Given the description of an element on the screen output the (x, y) to click on. 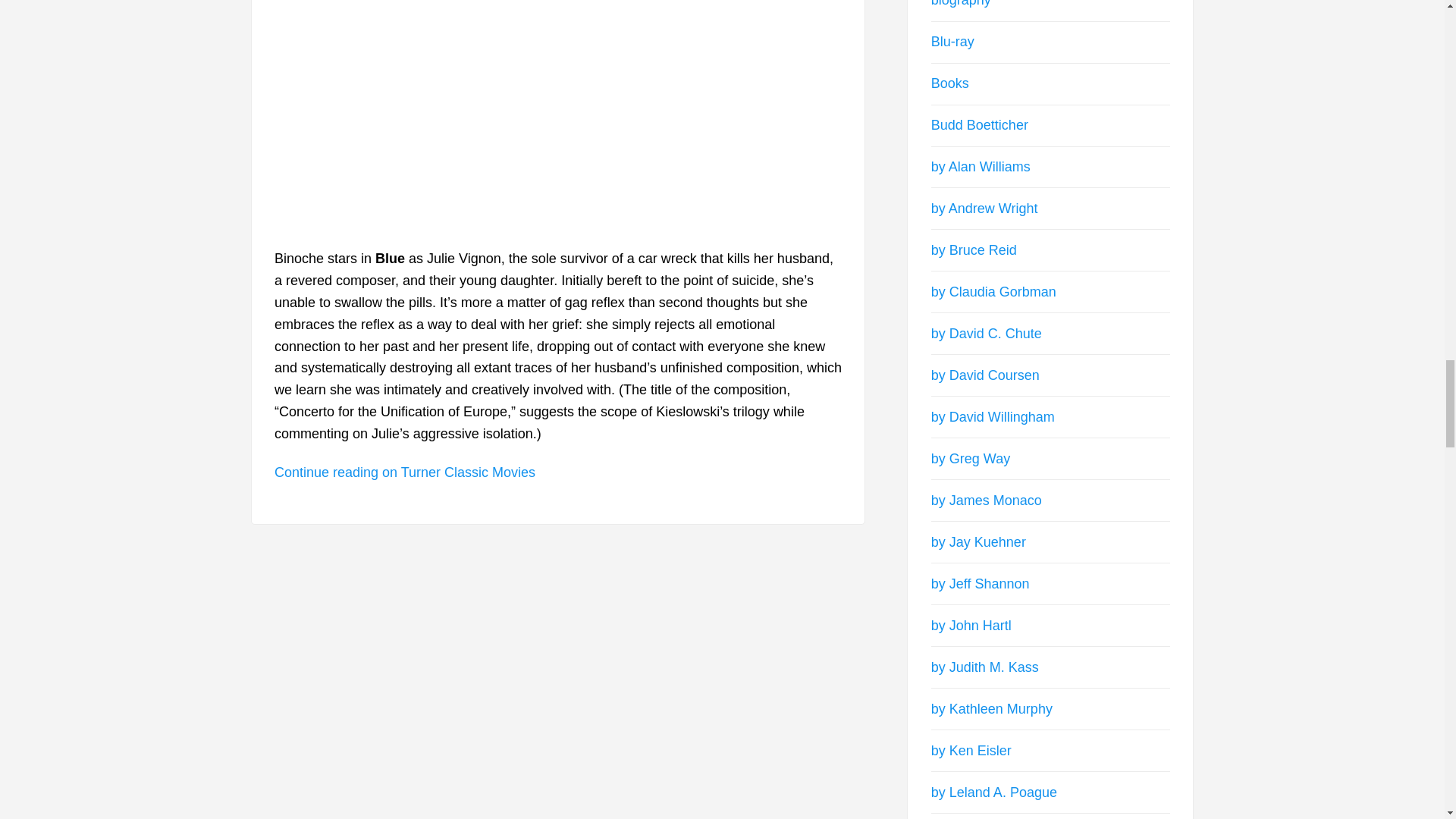
Continue reading on Turner Classic Movies (405, 472)
